Given the description of an element on the screen output the (x, y) to click on. 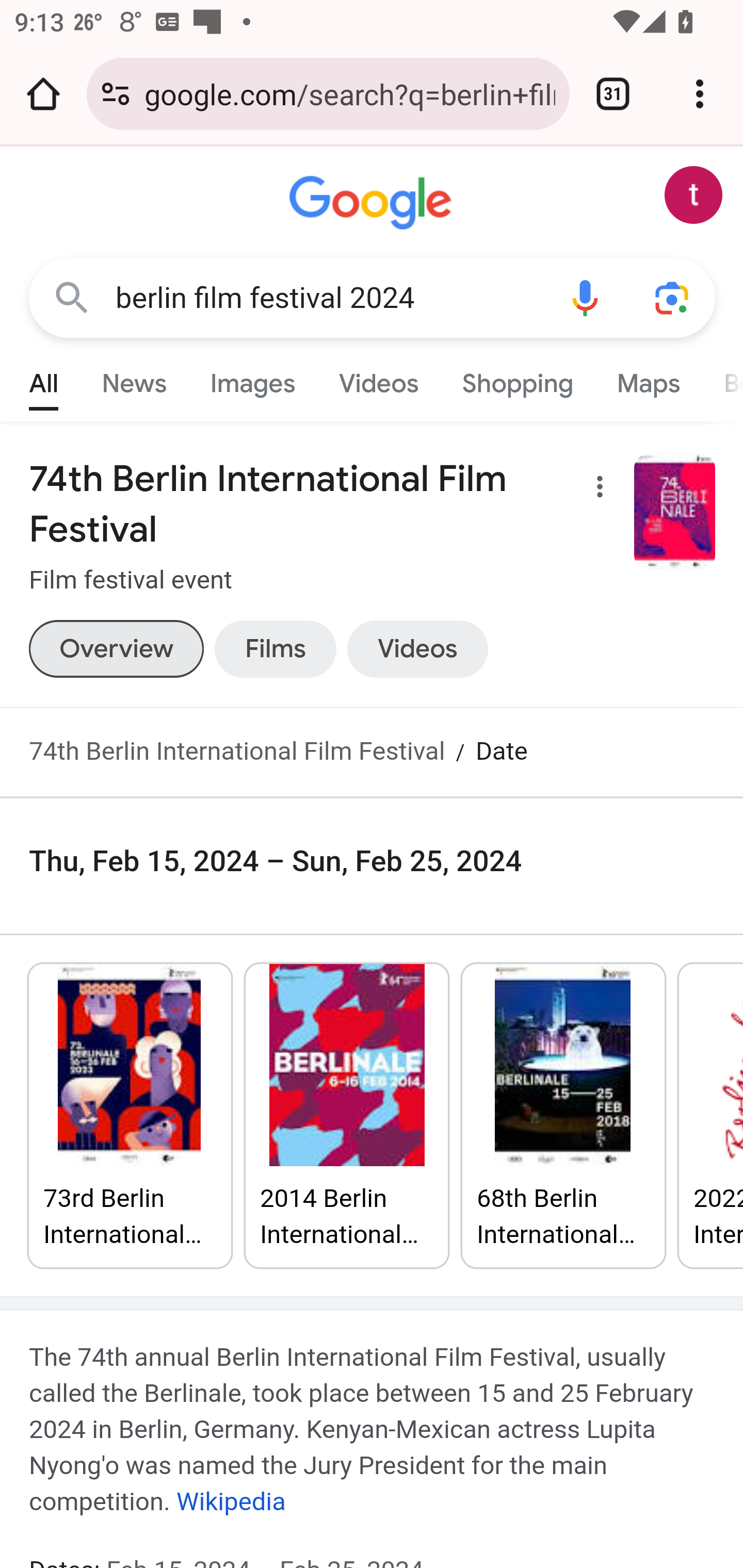
Open the home page (43, 93)
Connection is secure (115, 93)
Switch or close tabs (612, 93)
Customize and control Google Chrome (699, 93)
Google (372, 203)
Google Search (71, 296)
Search using your camera or photos (672, 296)
berlin film festival 2024 (328, 297)
News (134, 378)
Images (252, 378)
Videos (378, 378)
Shopping (516, 378)
Maps (647, 378)
More options (595, 489)
Overview (116, 649)
Films (275, 649)
Videos (417, 649)
73rd Berlin International Film Festival (129, 1116)
2014 Berlin International Film Festival (347, 1116)
68th Berlin International Film Festival (564, 1116)
Wikipedia (230, 1500)
